Given the description of an element on the screen output the (x, y) to click on. 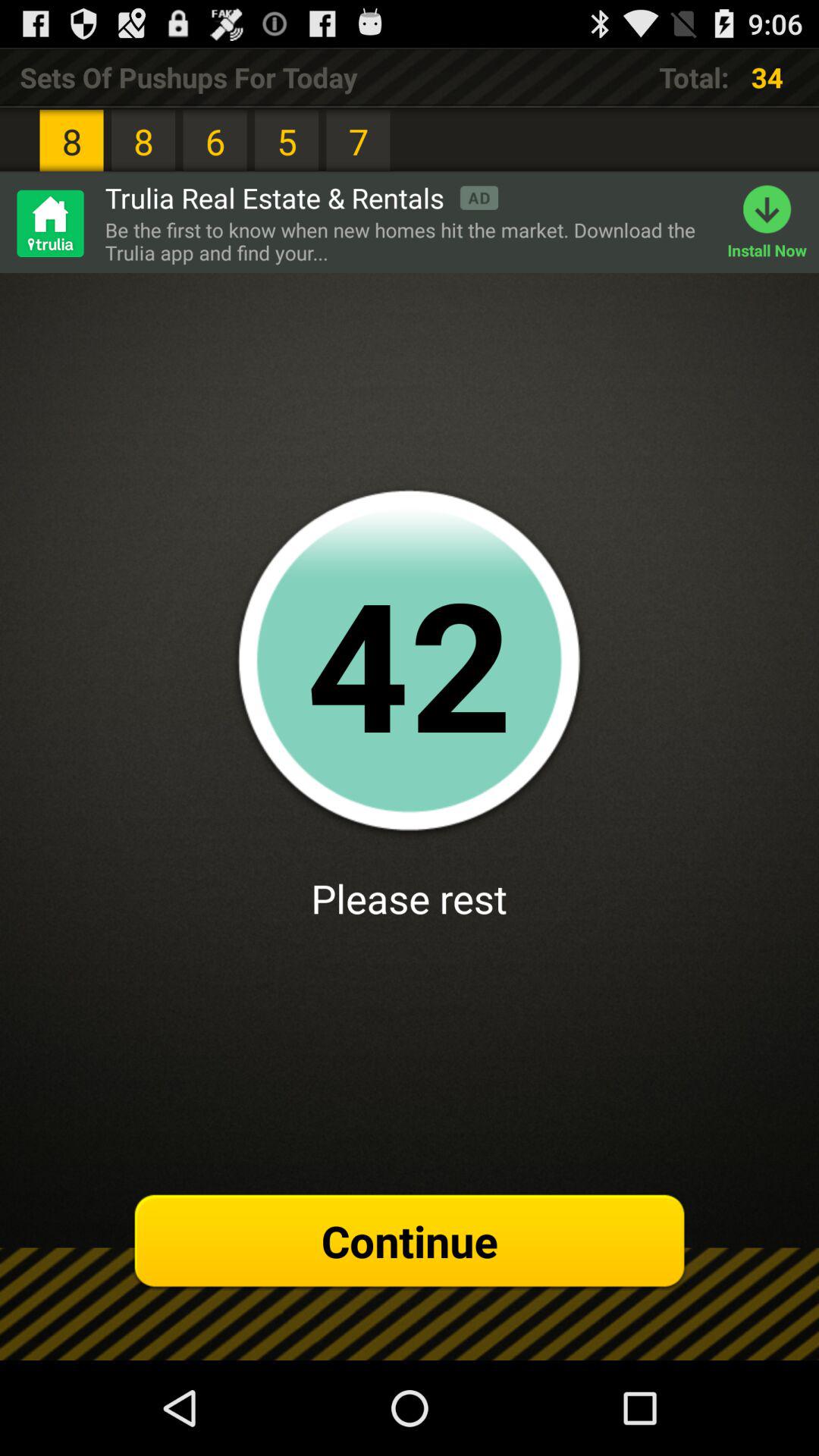
tap the item below the 8 (49, 222)
